Given the description of an element on the screen output the (x, y) to click on. 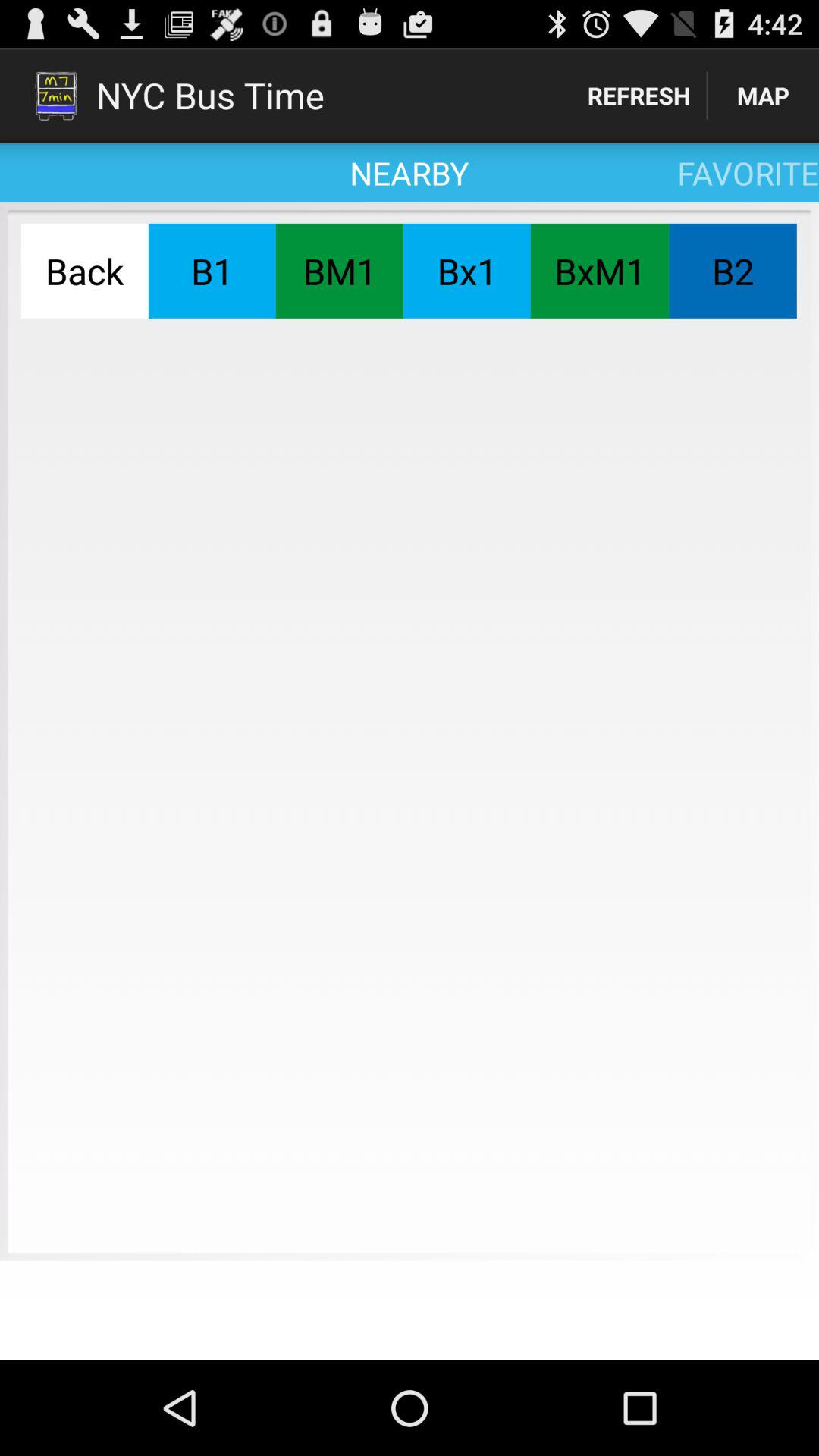
launch the app next to the nearby app (638, 95)
